Given the description of an element on the screen output the (x, y) to click on. 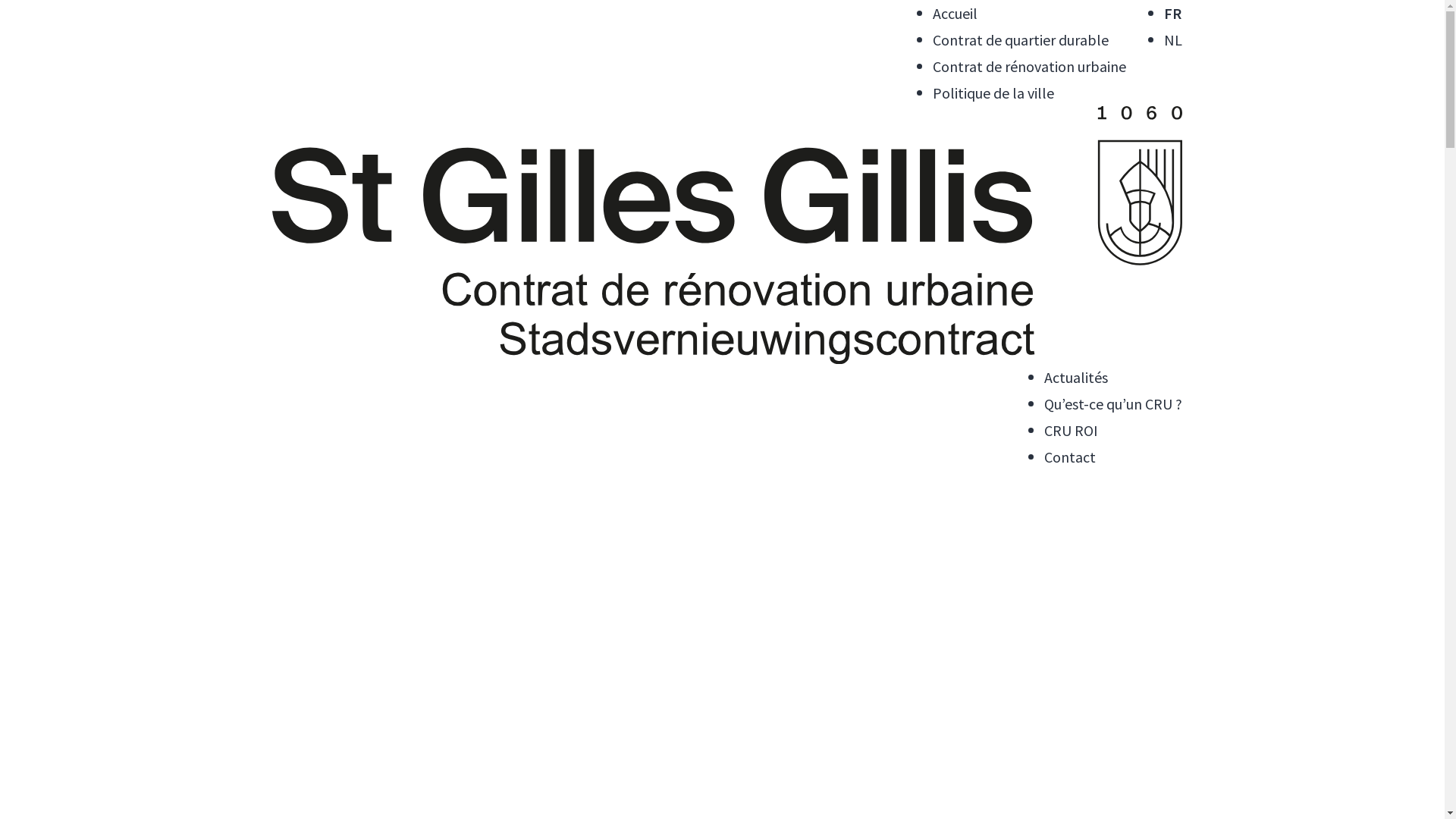
CRU ROI Element type: text (1071, 429)
Contact Element type: text (1069, 456)
Accueil Element type: text (745, 484)
FR Element type: text (1173, 13)
Accueil Element type: text (954, 12)
NL Element type: text (1173, 40)
NL Element type: text (745, 683)
Politique de la ville Element type: text (745, 620)
Contrat de quartier durable Element type: text (745, 530)
FR Element type: text (745, 657)
Contrat de quartier durable Element type: text (1020, 39)
Politique de la ville Element type: text (993, 92)
